Given the description of an element on the screen output the (x, y) to click on. 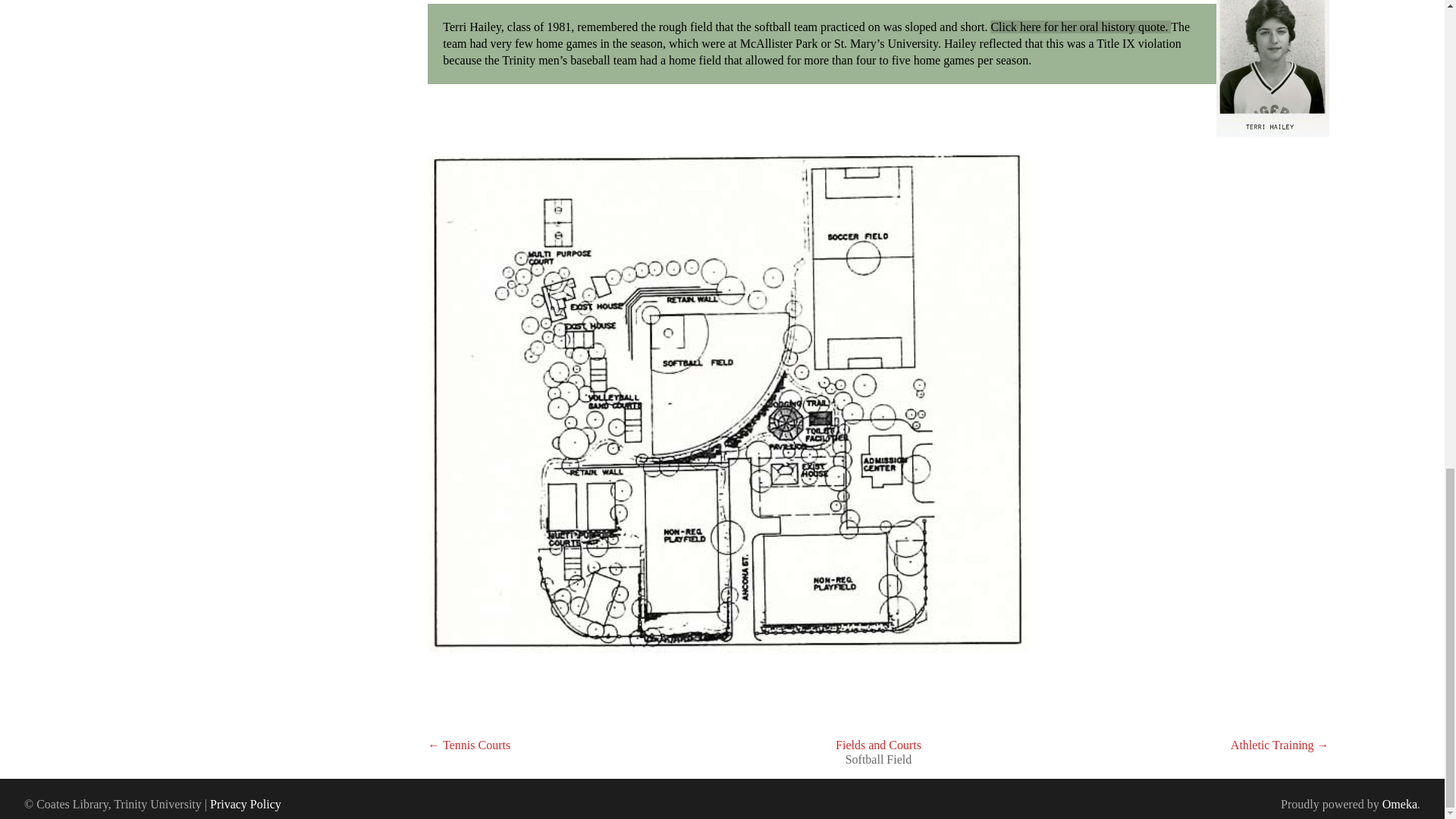
Fields and Courts (878, 744)
